Given the description of an element on the screen output the (x, y) to click on. 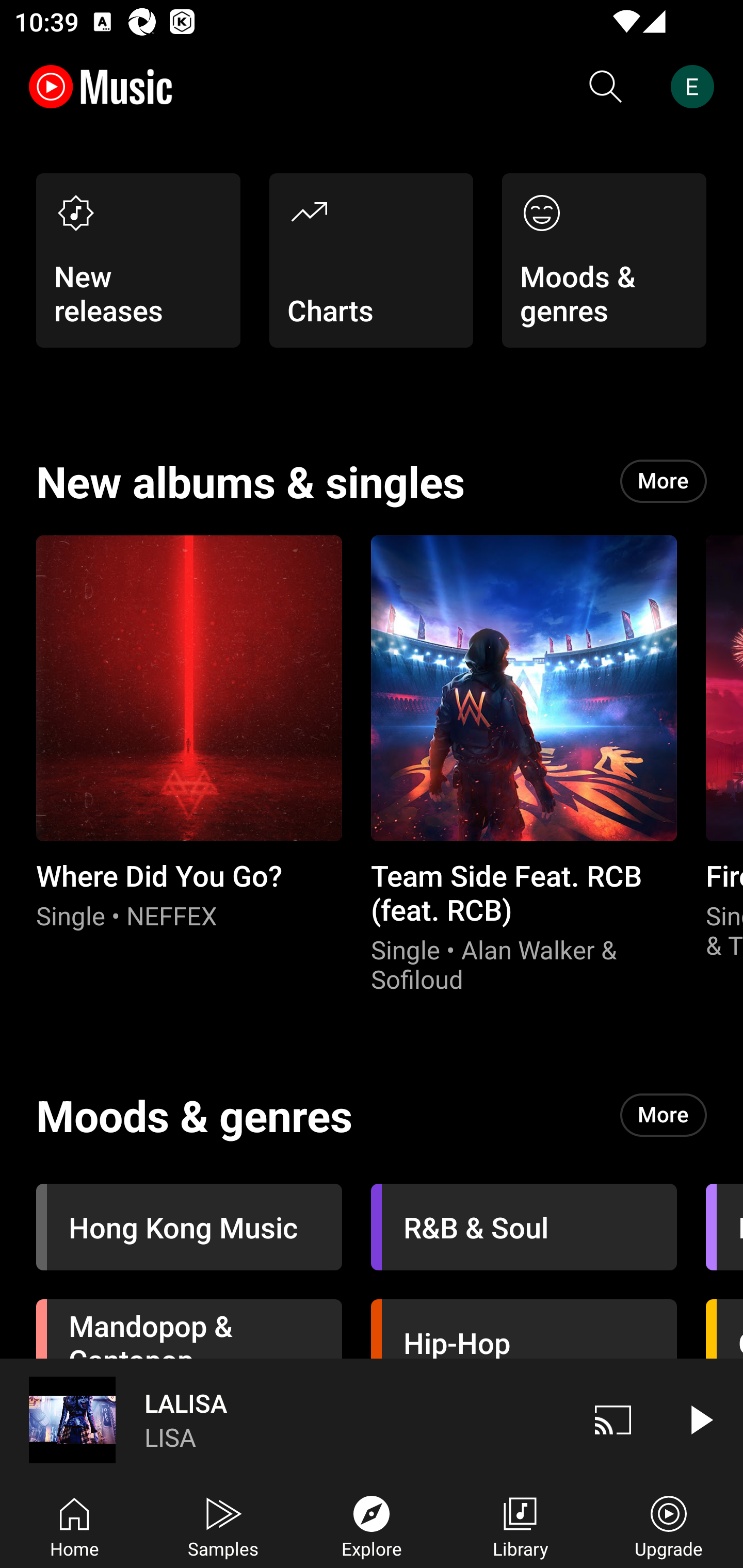
Search (605, 86)
Account (696, 86)
Cast. Disconnected (612, 1419)
Play video (699, 1419)
Home (74, 1524)
Samples (222, 1524)
Library (519, 1524)
Upgrade (668, 1524)
